Given the description of an element on the screen output the (x, y) to click on. 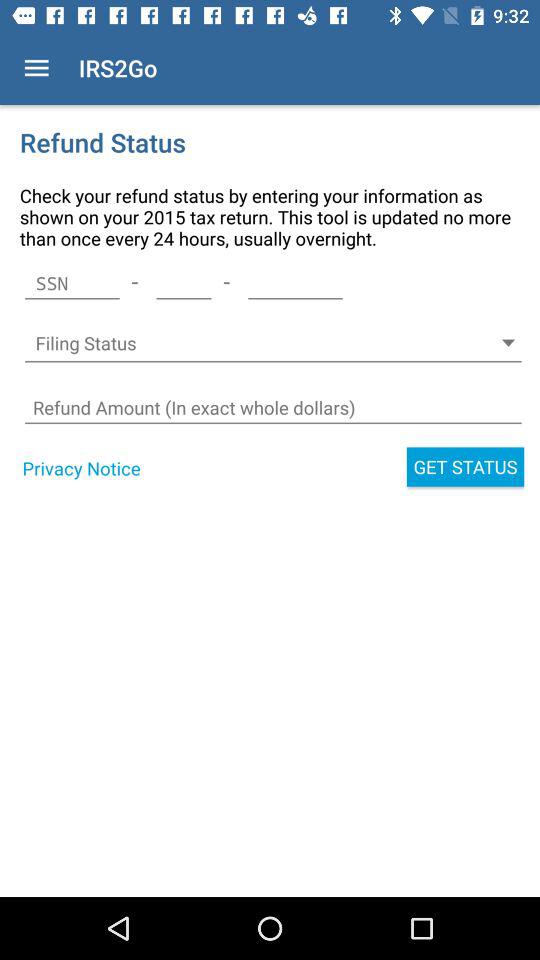
select icon next to the - (183, 283)
